Given the description of an element on the screen output the (x, y) to click on. 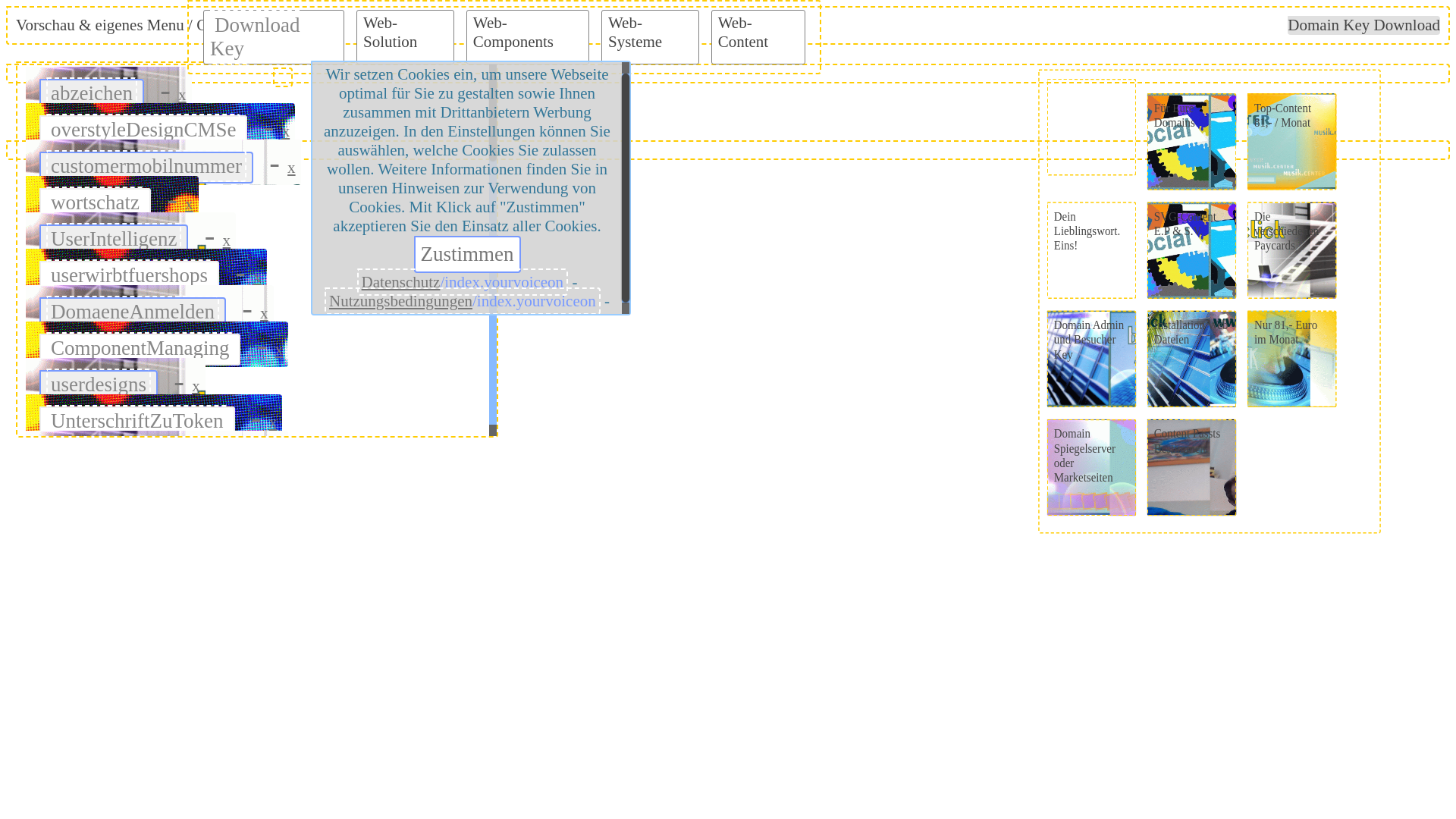
x Element type: text (195, 385)
x Element type: text (286, 131)
domainimportfiles Element type: text (126, 639)
CustomerFileextensions - x Element type: text (166, 598)
BeiDomainAnmeldung Element type: text (146, 712)
x Element type: text (279, 531)
UnterschriftZuToken - x Element type: text (153, 416)
x Element type: text (355, 495)
videochatclickowners - x Element type: text (156, 526)
AudioVideoDateiFormat Element type: text (152, 675)
MultitaskVideoImage - x Element type: text (156, 453)
DomaeneAnmelden - x Element type: text (149, 307)
userwirbtfuershops - x Element type: text (145, 271)
overstyleDesignCMSe - x Element type: text (159, 125)
StandortGeheimZurIP - x Element type: text (158, 744)
Paycard-Verkauf Element type: text (119, 566)
userwirbtfuershops Element type: text (129, 275)
videochatclickowners Element type: text (139, 530)
UserIntelligenz Element type: text (113, 238)
ComponentManaging - x Element type: text (156, 344)
x Element type: text (264, 313)
EmailfachUndKurznachrichten Element type: text (178, 493)
customermobilnummer - x Element type: text (163, 162)
Download Key Element type: text (254, 36)
x Element type: text (291, 167)
userdesigns - x Element type: text (115, 380)
Paycard-Verkauf - x Element type: text (136, 562)
UnterschriftZuToken Element type: text (137, 420)
x Element type: text (257, 276)
x Element type: text (282, 749)
wortschatz - x Element type: text (111, 198)
Datenschutz/index.yourvoiceon Element type: text (462, 281)
x Element type: text (226, 240)
StandortGeheimZurIP Element type: text (141, 748)
abzeichen Element type: text (91, 93)
Zustimmen Element type: text (467, 254)
AudioVideoDateiFormat - x Element type: text (169, 671)
domainimportfiles - x Element type: text (142, 635)
MultitaskVideoImage Element type: text (139, 457)
userdesigns Element type: text (98, 384)
EmailfachUndKurznachrichten - x Element type: text (195, 489)
x Element type: text (279, 349)
x Element type: text (340, 786)
customermobilnummer Element type: text (146, 166)
x Element type: text (182, 94)
x Element type: text (303, 677)
Domain Key Download Element type: text (1363, 24)
CustomerFileextensions Element type: text (149, 602)
abzeichen - x Element type: text (108, 89)
MarkennamenSearchEngines Element type: text (170, 784)
Nutzungsbedingungen/index.yourvoiceon Element type: text (462, 300)
BeiDomainAnmeldung - x Element type: text (163, 708)
x Element type: text (189, 203)
x Element type: text (278, 458)
UserIntelligenz - x Element type: text (130, 234)
x Element type: text (238, 567)
x Element type: text (298, 604)
x Element type: text (251, 640)
x Element type: text (291, 713)
x Element type: text (273, 422)
ComponentManaging Element type: text (139, 348)
MarkennamenSearchEngines - x Element type: text (187, 780)
overstyleDesignCMSe Element type: text (143, 129)
wortschatz Element type: text (95, 202)
DomaeneAnmelden Element type: text (132, 311)
